Given the description of an element on the screen output the (x, y) to click on. 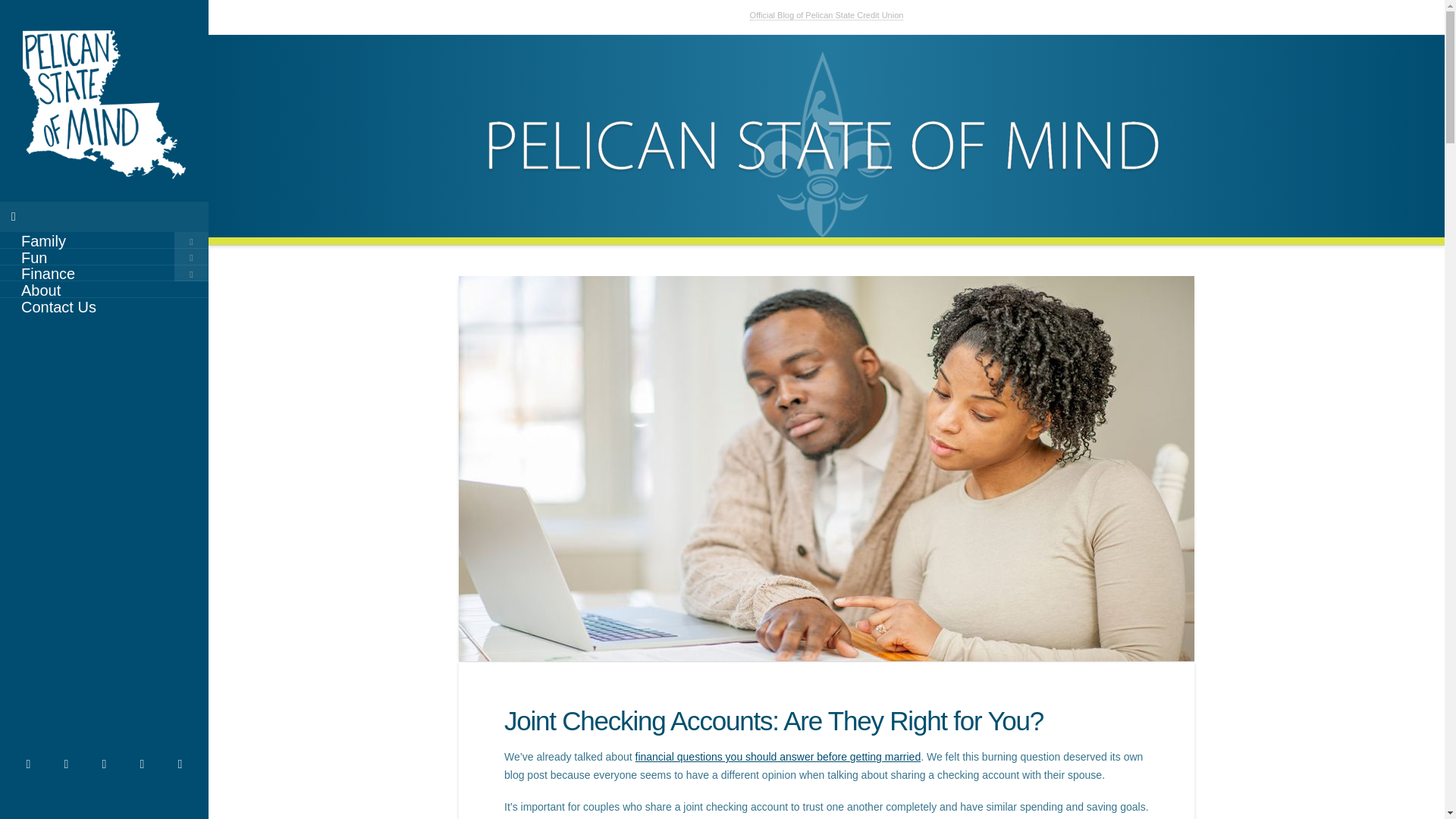
Contact Us (104, 306)
financial questions you should answer before getting married (777, 756)
About (104, 289)
Family (104, 239)
Search (43, 21)
Fun (104, 256)
Finance (104, 273)
Official Blog of Pelican State Credit Union (826, 15)
